Given the description of an element on the screen output the (x, y) to click on. 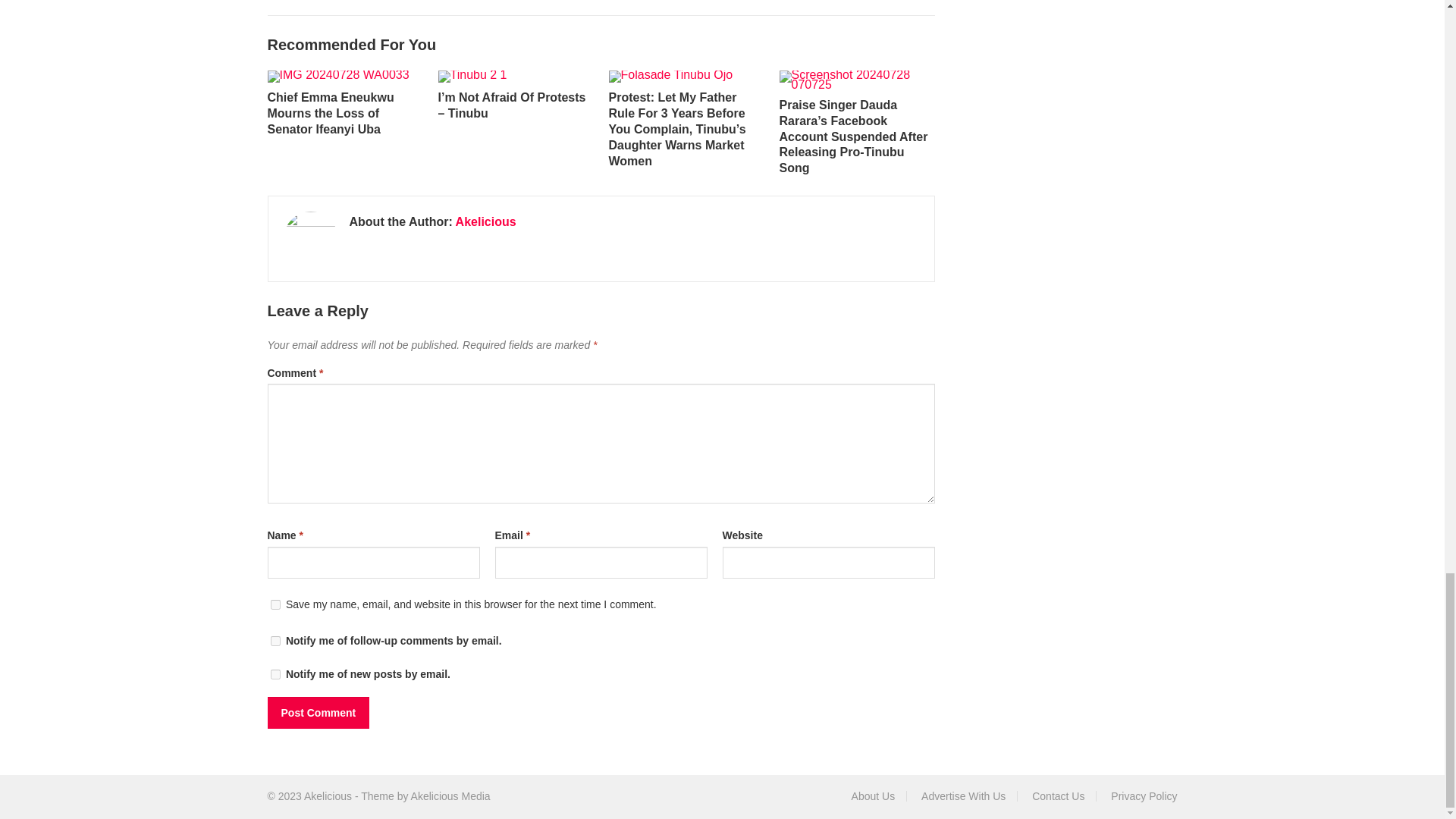
yes (274, 604)
Post Comment (317, 712)
subscribe (274, 674)
subscribe (274, 641)
Chief Emma Eneukwu Mourns the Loss of Senator Ifeanyi Uba 2 (337, 76)
